Given the description of an element on the screen output the (x, y) to click on. 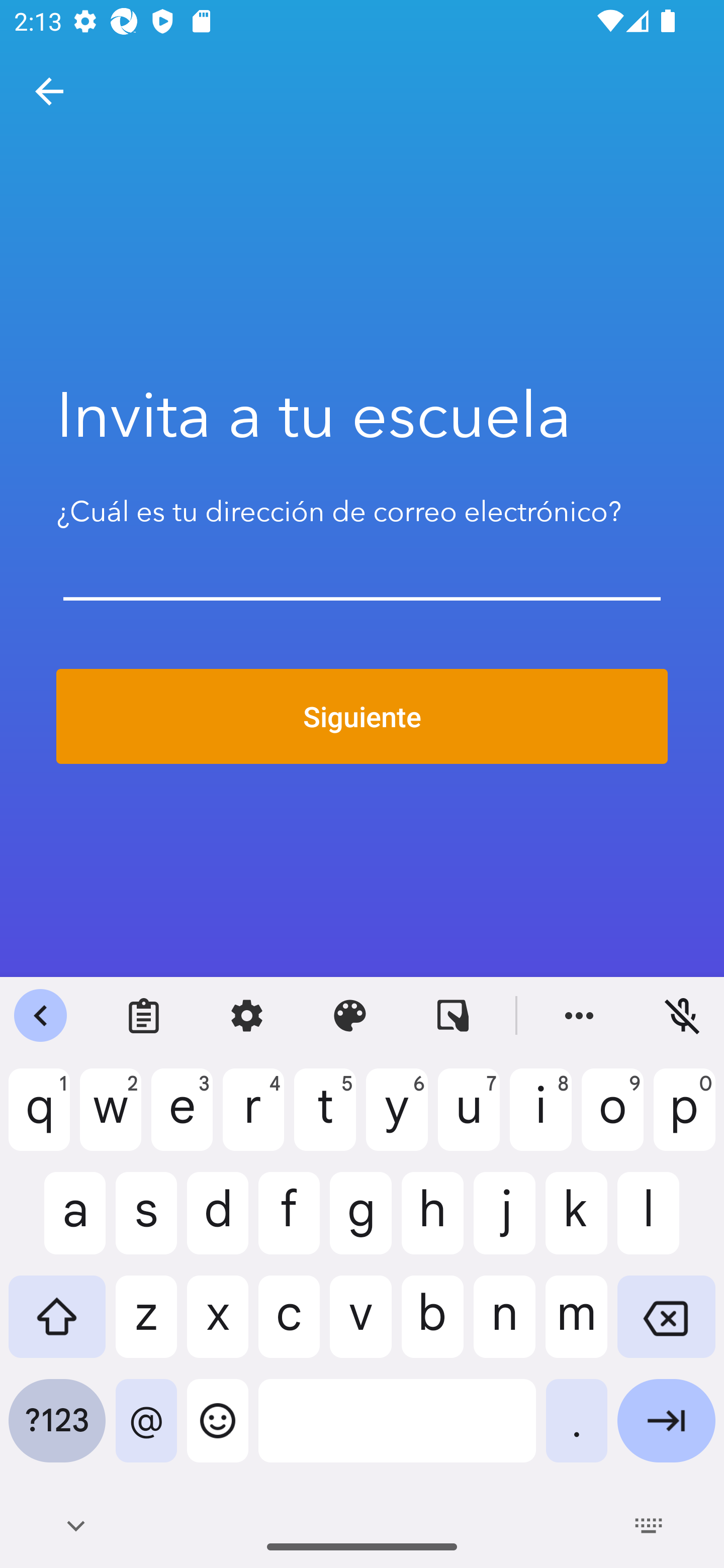
Navegar hacia arriba (49, 91)
Siguiente (361, 716)
